Given the description of an element on the screen output the (x, y) to click on. 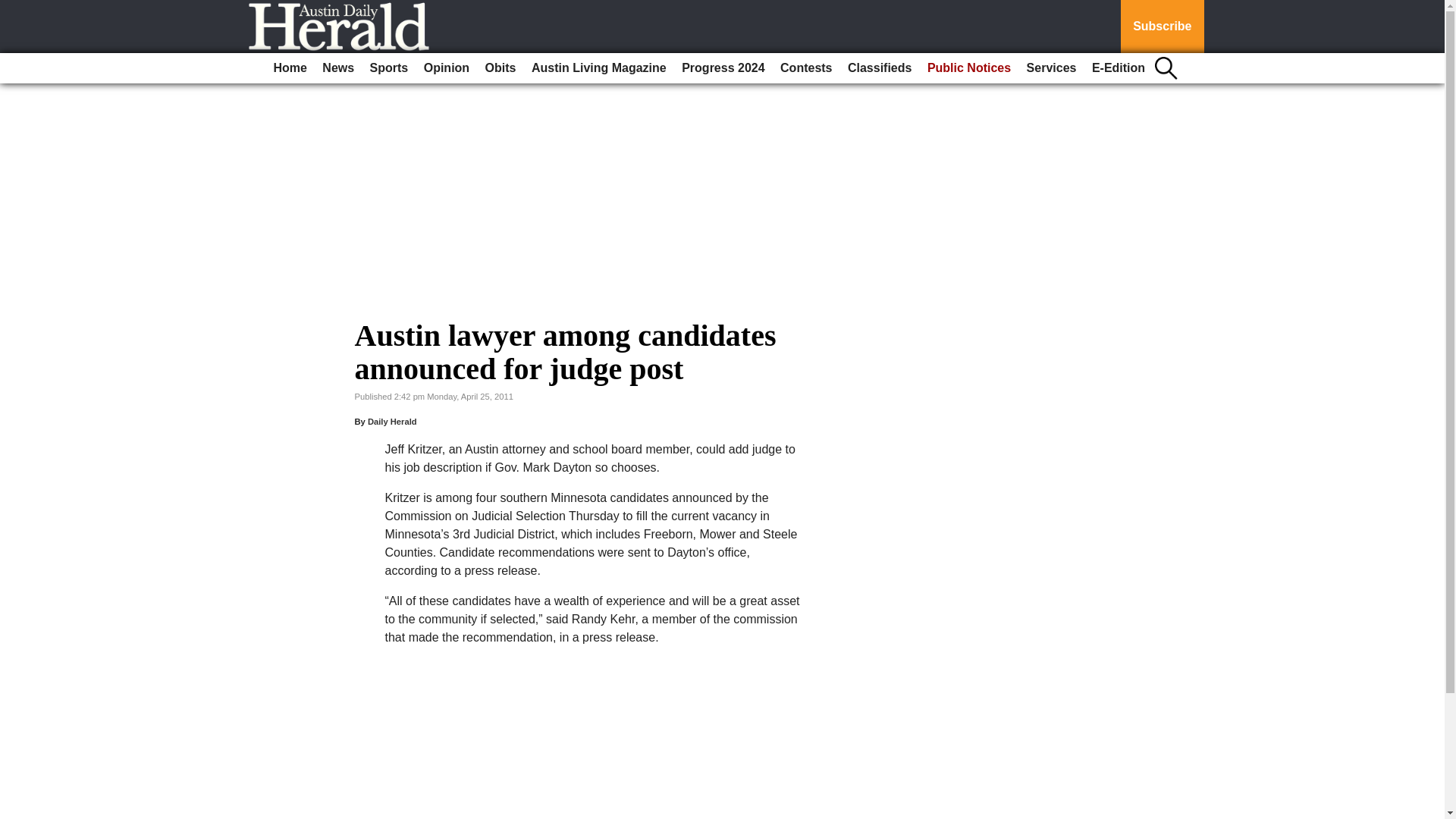
Subscribe (1162, 26)
Public Notices (968, 68)
Progress 2024 (722, 68)
Classifieds (879, 68)
Austin Living Magazine (598, 68)
News (337, 68)
Services (1051, 68)
Sports (389, 68)
Opinion (446, 68)
Home (289, 68)
